Given the description of an element on the screen output the (x, y) to click on. 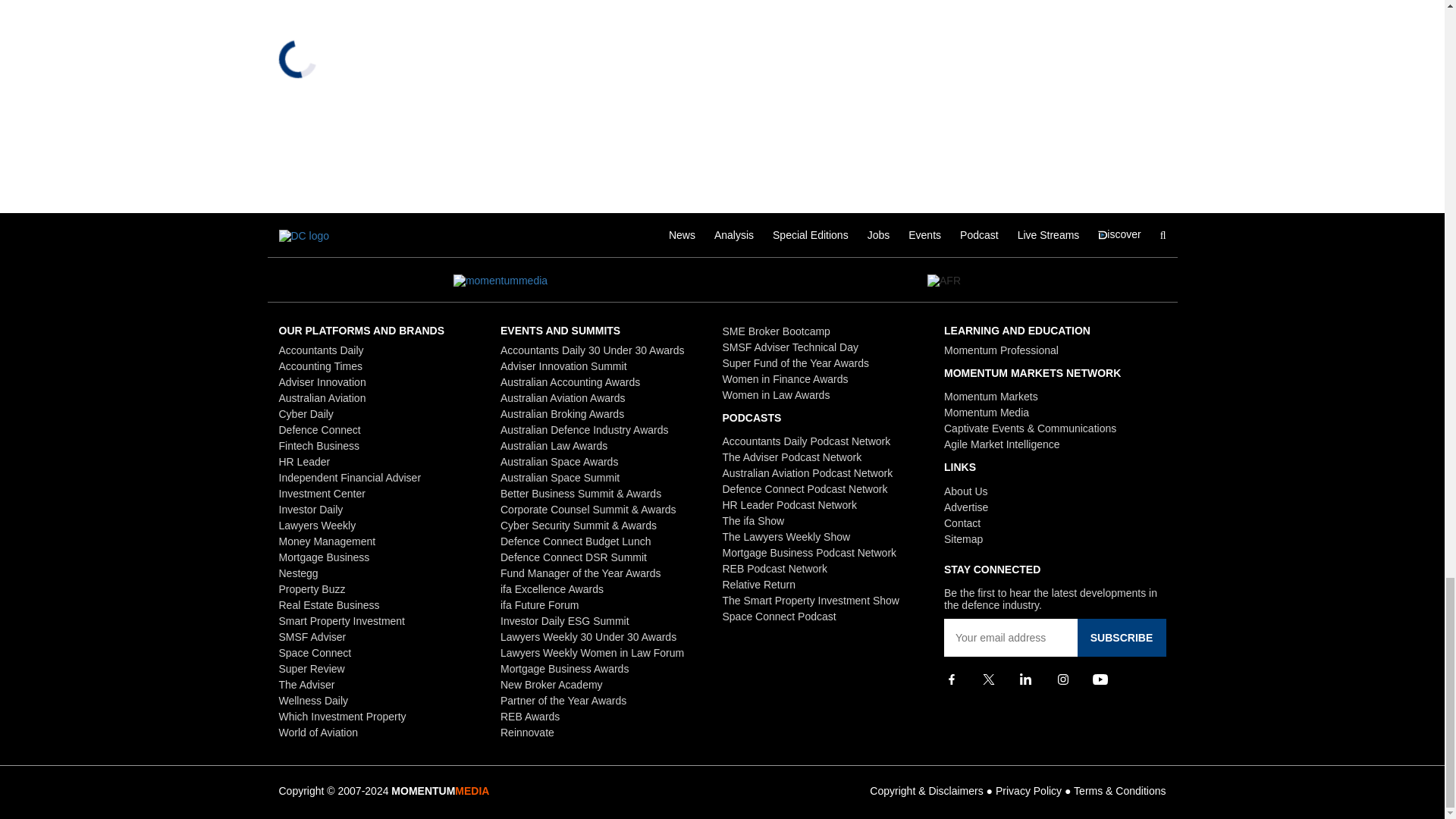
SUBSCRIBE (1121, 637)
